Given the description of an element on the screen output the (x, y) to click on. 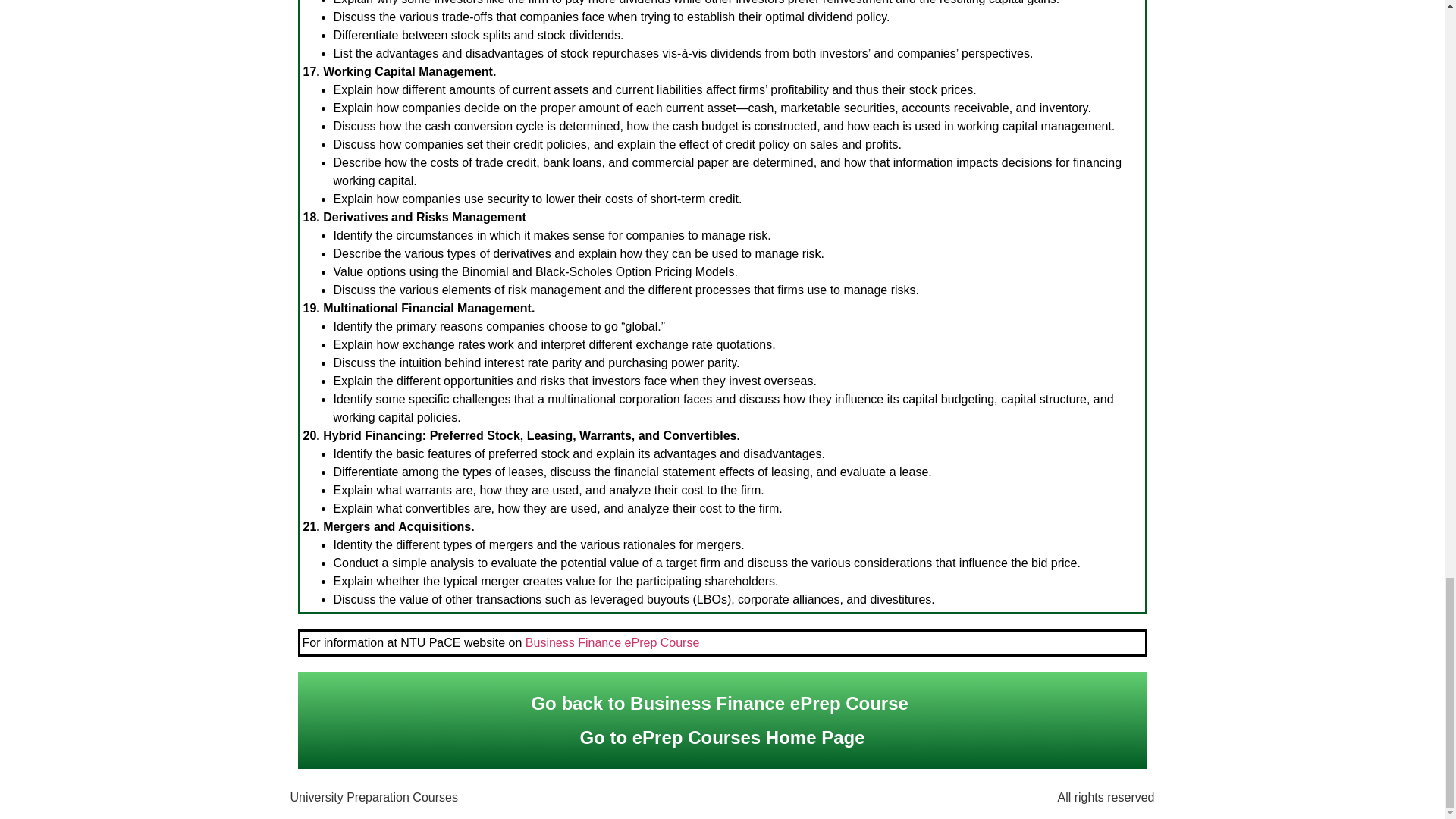
Business Finance ePrep Course (769, 702)
Business Finance ePrep Course (611, 642)
ePrep Courses (698, 737)
